Given the description of an element on the screen output the (x, y) to click on. 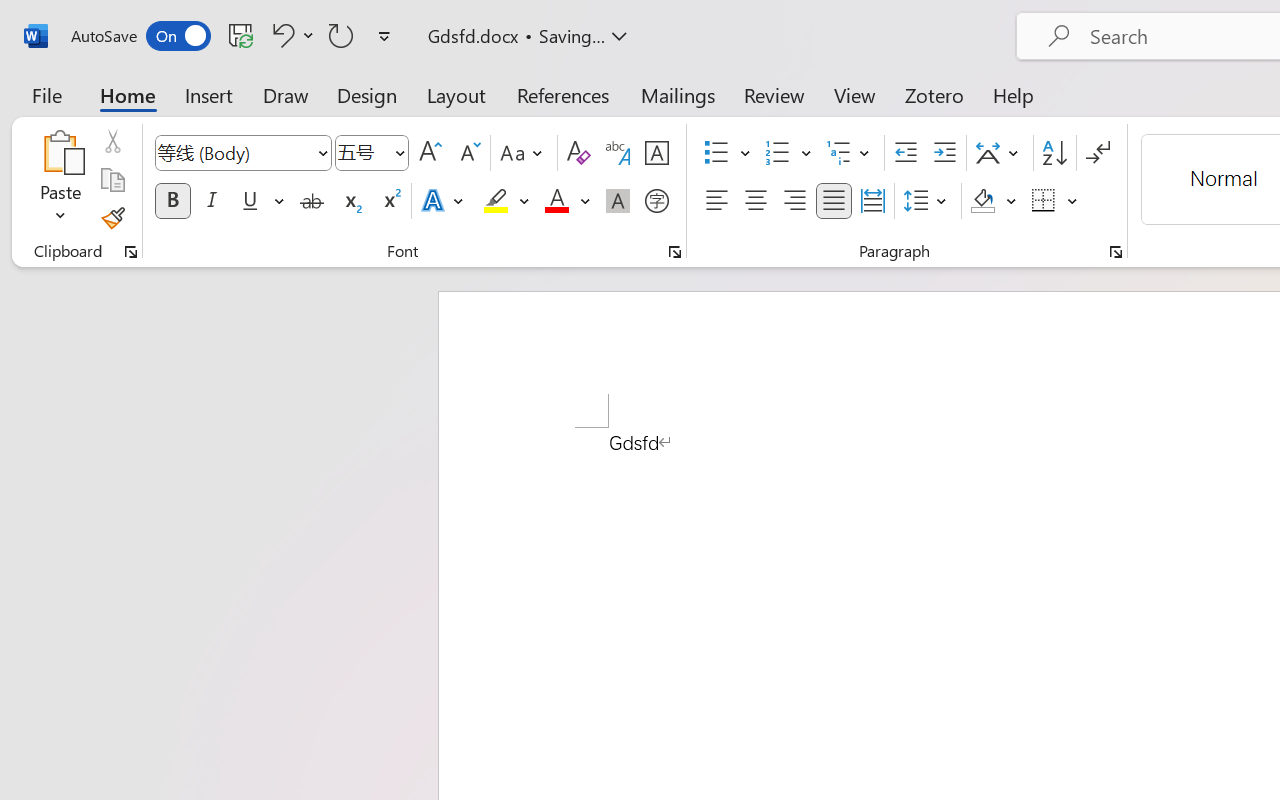
Copy (112, 179)
Text Highlight Color (506, 201)
Font... (675, 252)
Italic (212, 201)
Office Clipboard... (131, 252)
